Given the description of an element on the screen output the (x, y) to click on. 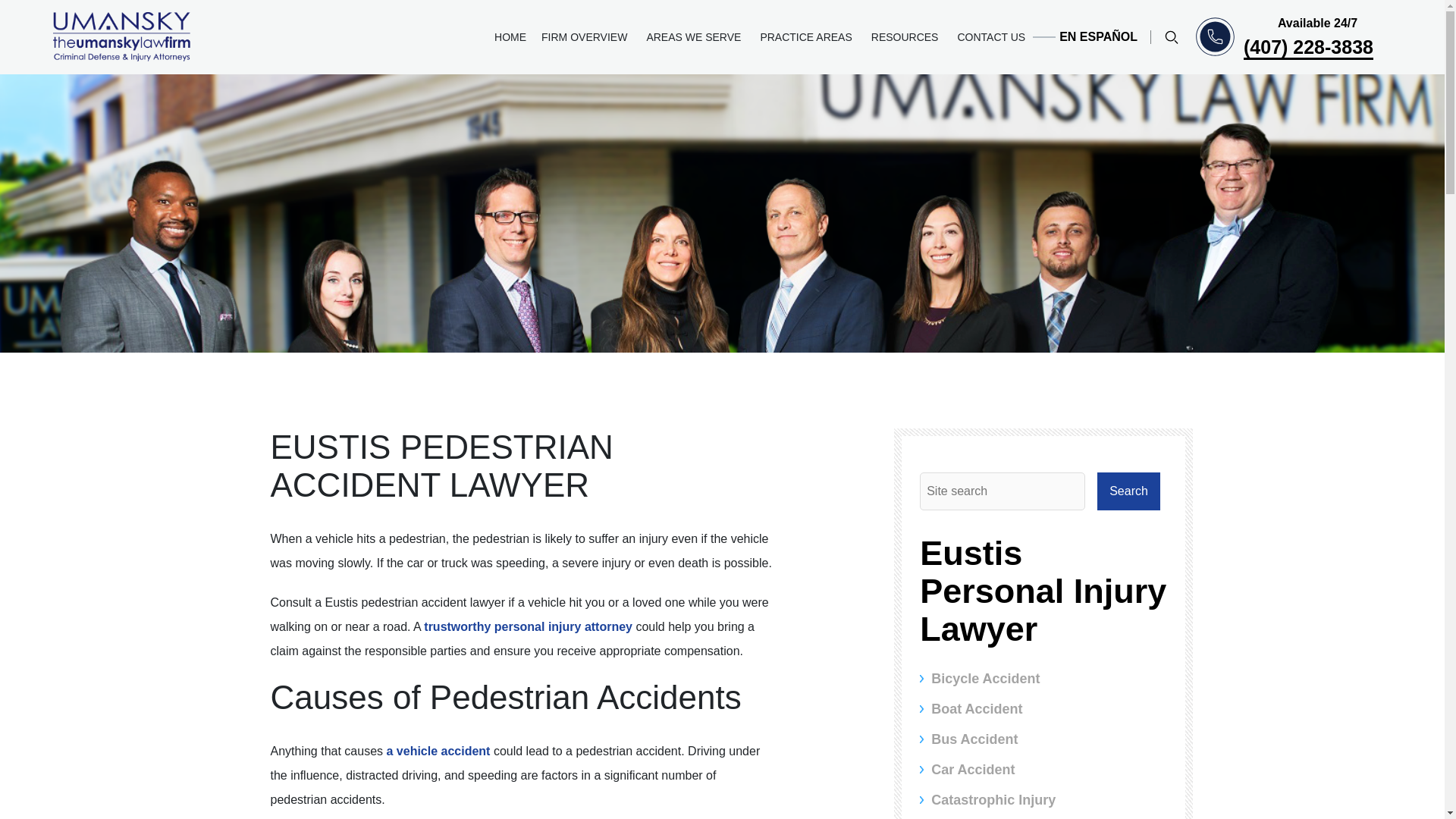
HOME (510, 37)
FIRM OVERVIEW (586, 37)
Search (1128, 491)
AREAS WE SERVE (695, 37)
Search (1128, 491)
